Given the description of an element on the screen output the (x, y) to click on. 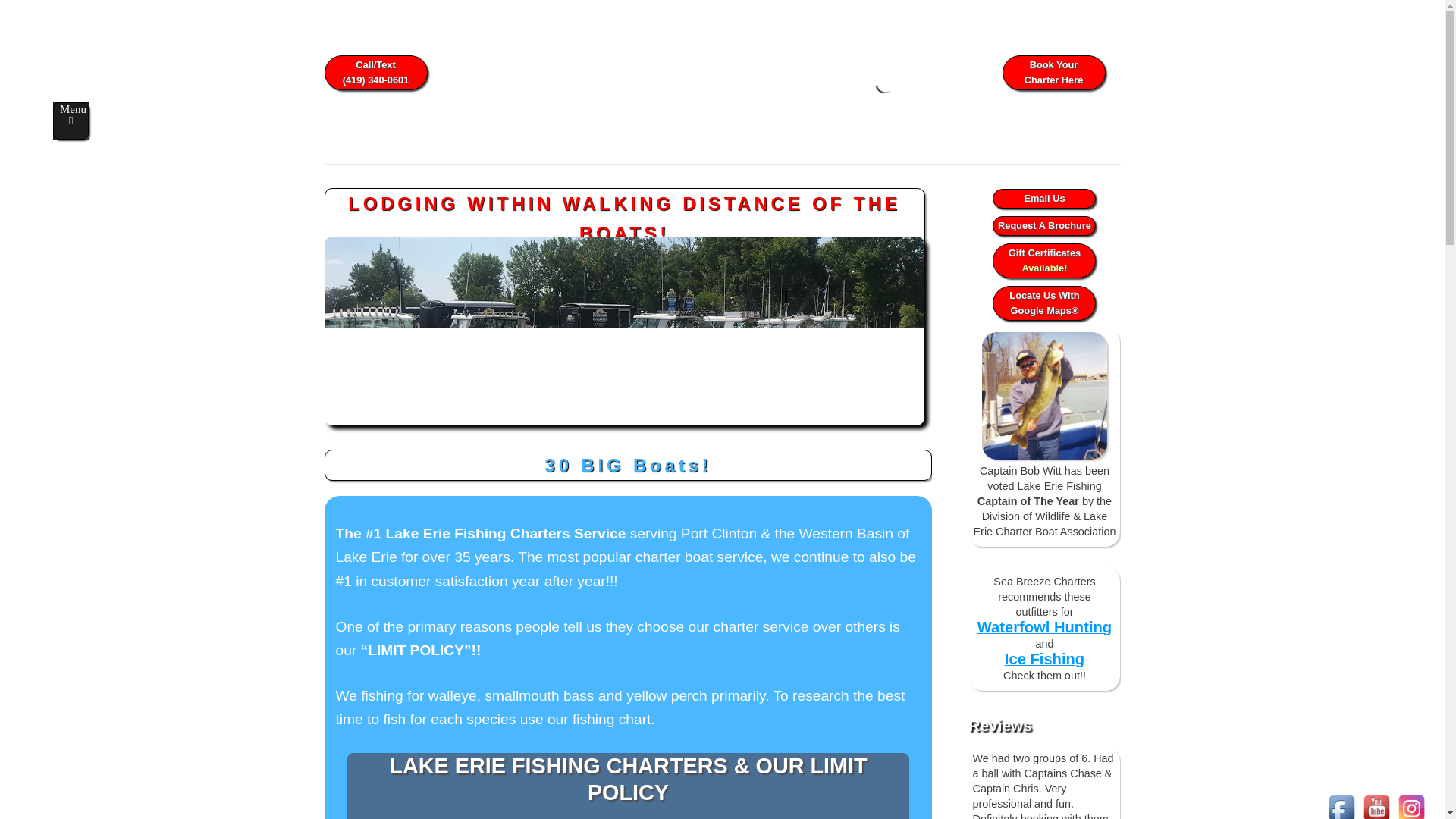
yellow perch (666, 695)
Ice Fishing (1044, 660)
Visit Us On Facebook (1340, 816)
Visit Us On Youtube (1375, 816)
Request Our Brochure (1043, 225)
Waterfowl Hunting (1044, 628)
Request Our Brochure (1043, 198)
Request A Brochure (1043, 260)
smallmouth bass (1043, 225)
